Given the description of an element on the screen output the (x, y) to click on. 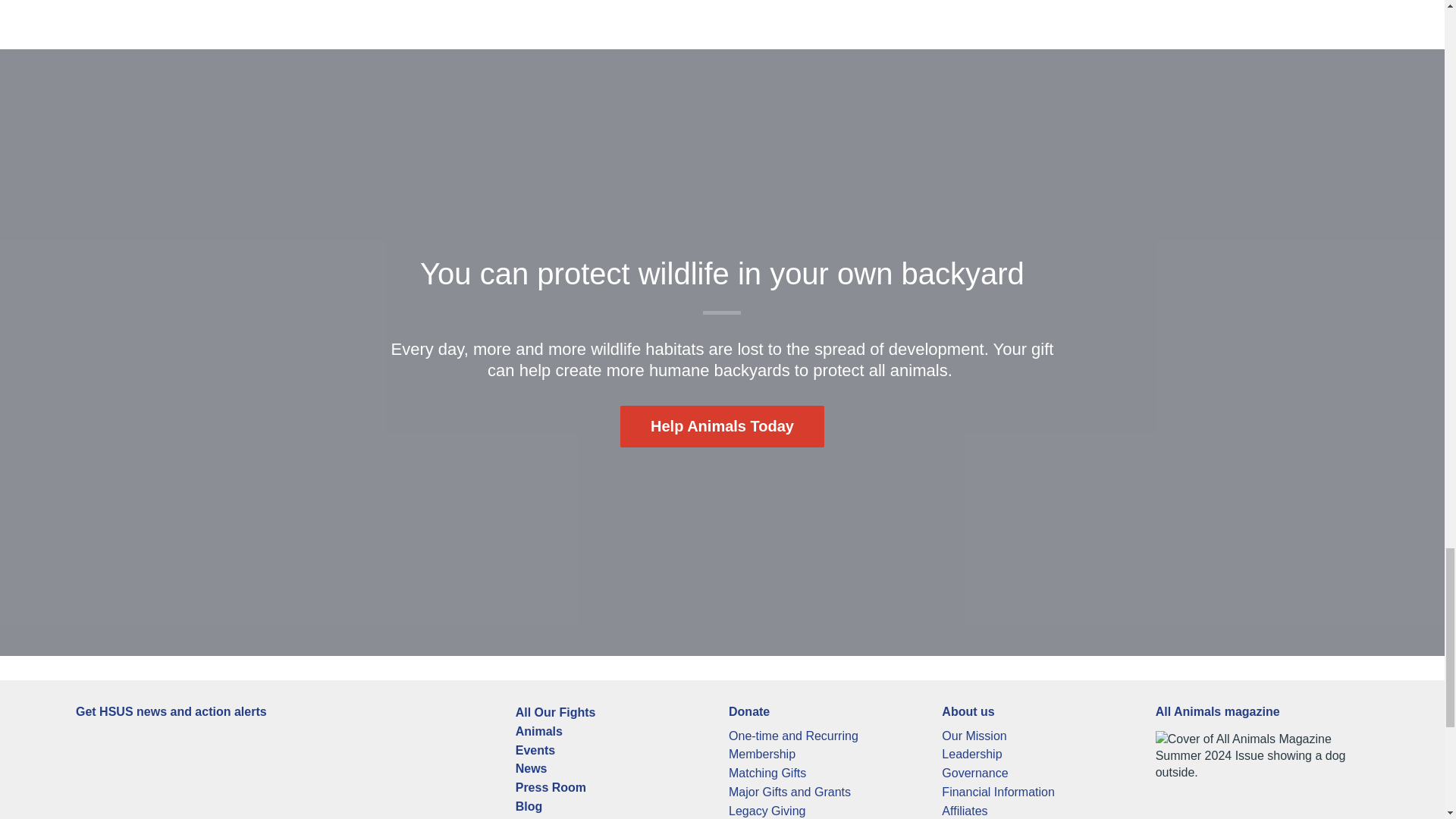
Press Room (550, 787)
Matching Gifts (767, 772)
One-time and recurring (794, 735)
Major Gifts and Grants (789, 791)
Blog (529, 806)
Use this form to sign up for the Humane Society Newsletter (207, 771)
Press Room (550, 787)
Events (534, 749)
Leadership (971, 753)
Matching gift donations (767, 772)
